Given the description of an element on the screen output the (x, y) to click on. 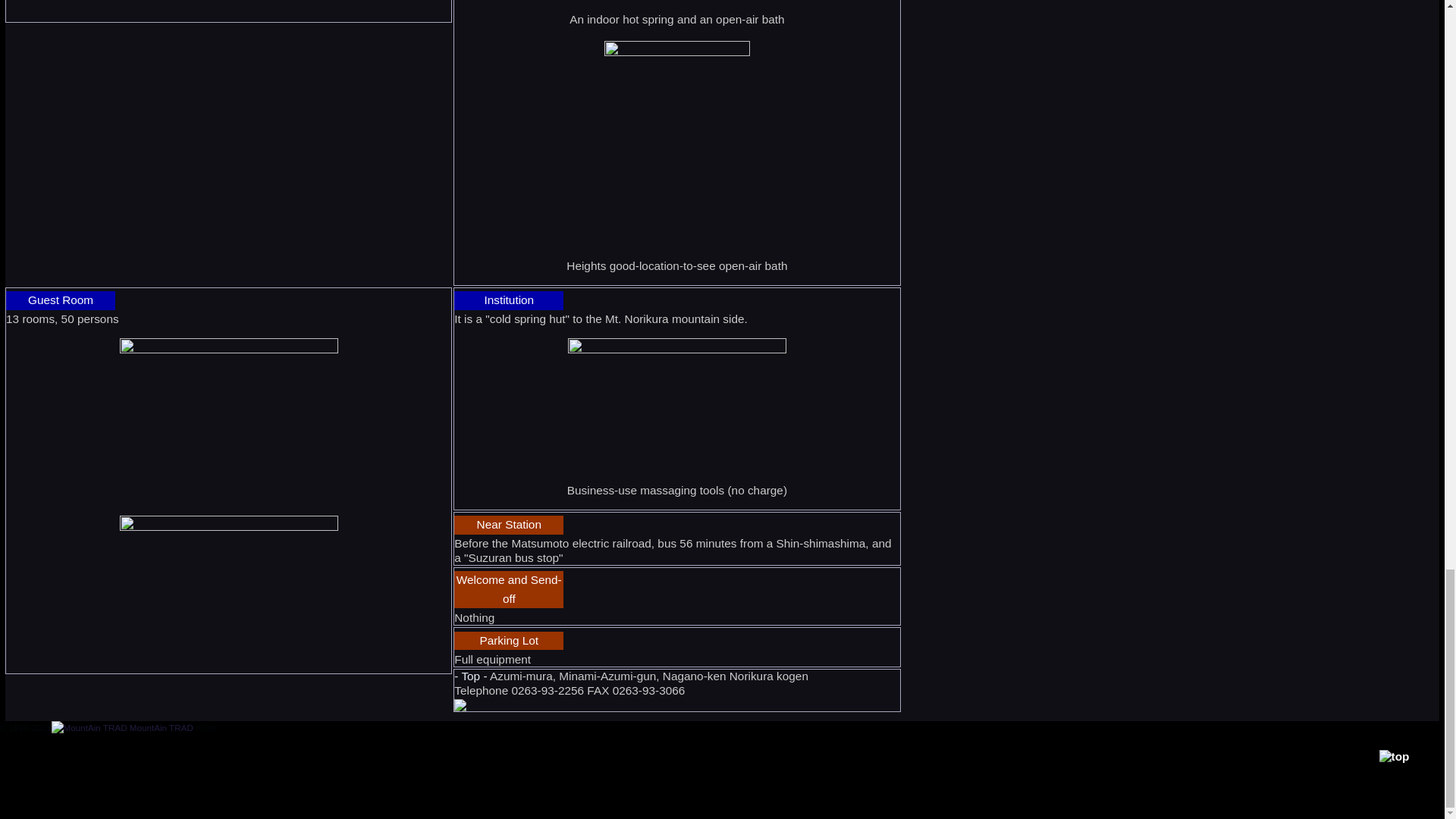
MountAin TRAD (121, 727)
MountAin TRAD (89, 727)
- Top - (471, 675)
